Given the description of an element on the screen output the (x, y) to click on. 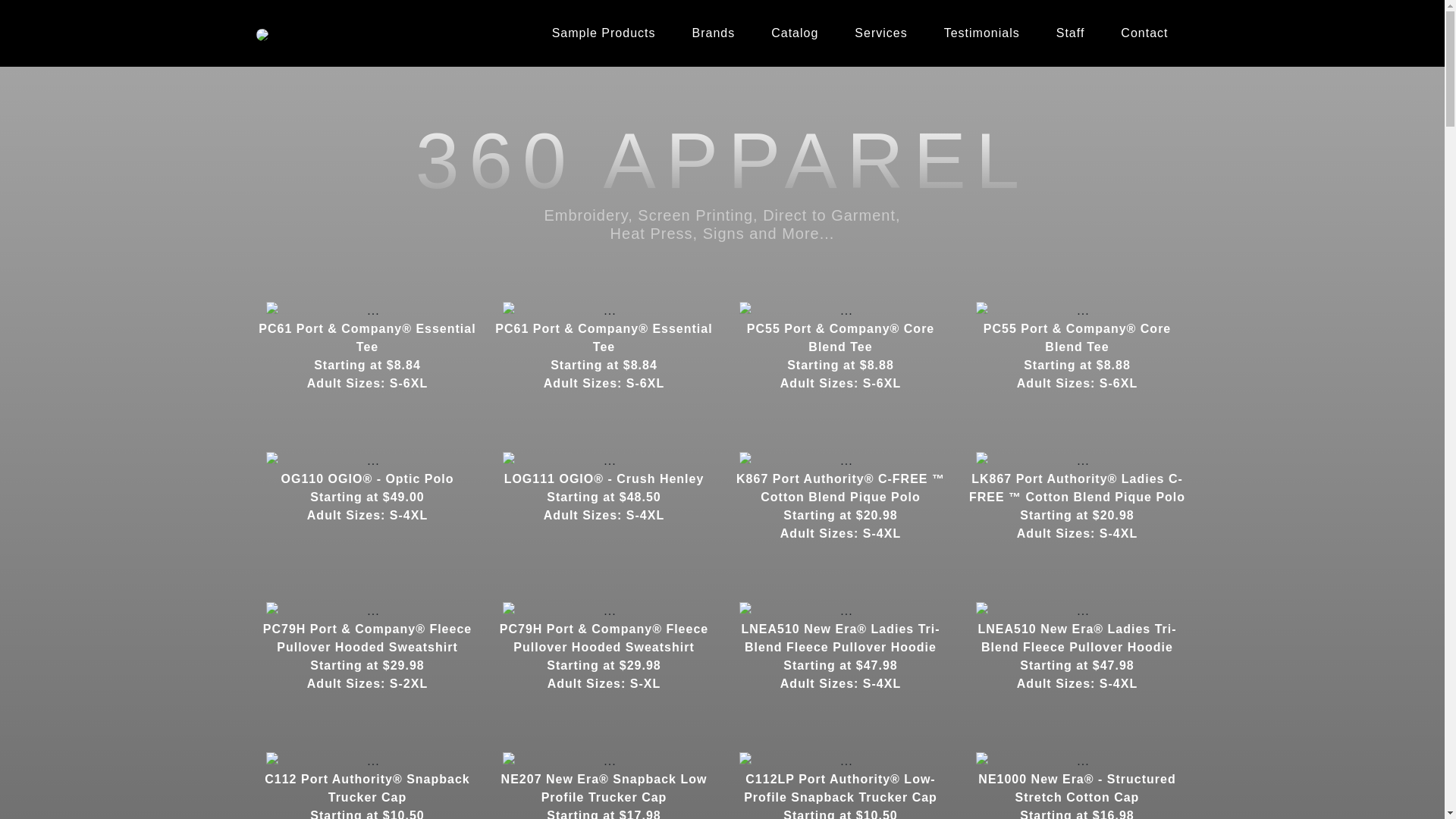
Testimonials Element type: text (981, 33)
Contact Element type: text (1144, 33)
Catalog Element type: text (794, 33)
Staff Element type: text (1070, 33)
Services Element type: text (880, 33)
Brands Element type: text (713, 33)
Sample Products Element type: text (603, 33)
